Given the description of an element on the screen output the (x, y) to click on. 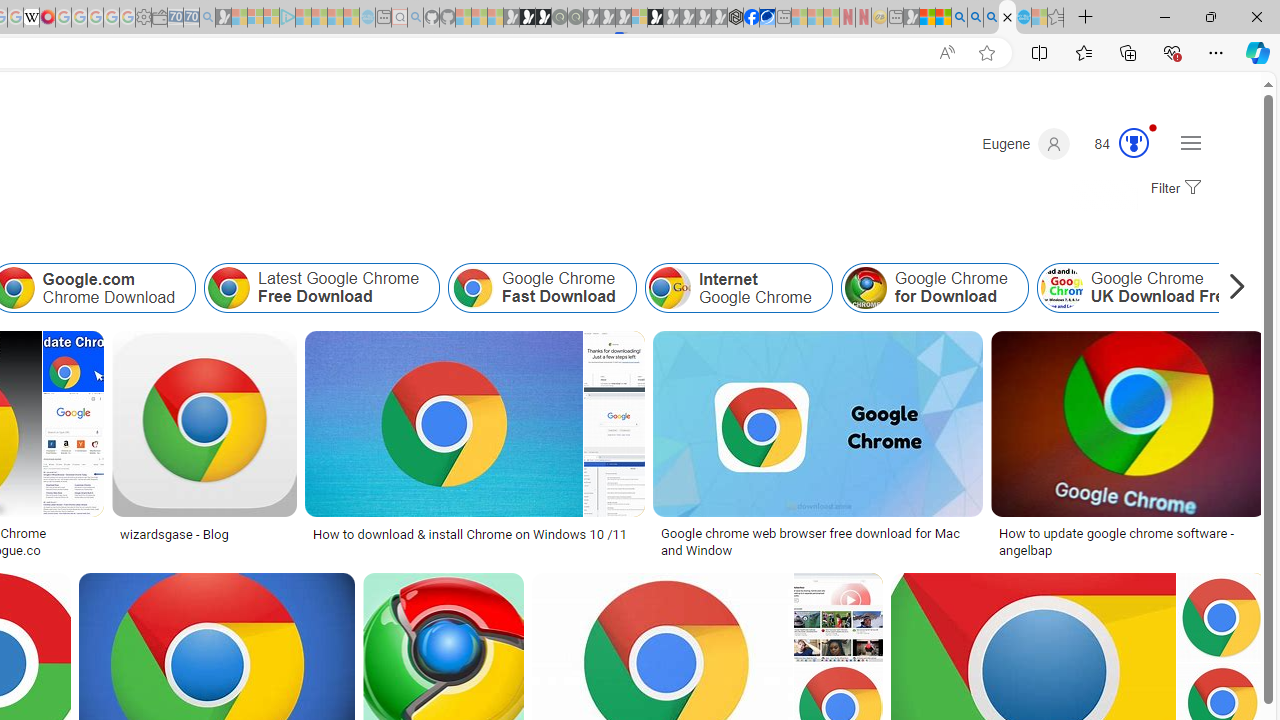
Google Chrome UK Download Free (1060, 287)
Future Focus Report 2024 - Sleeping (575, 17)
Play Zoo Boom in your browser | Games from Microsoft Start (527, 17)
Google chrome web browser free download for Mac and Window (817, 541)
How to update google chrome software - angelbap (1128, 541)
MediaWiki (47, 17)
Nordace | Facebook (751, 17)
How to update google chrome software - angelbap (1128, 541)
Cheap Car Rentals - Save70.com - Sleeping (191, 17)
